Given the description of an element on the screen output the (x, y) to click on. 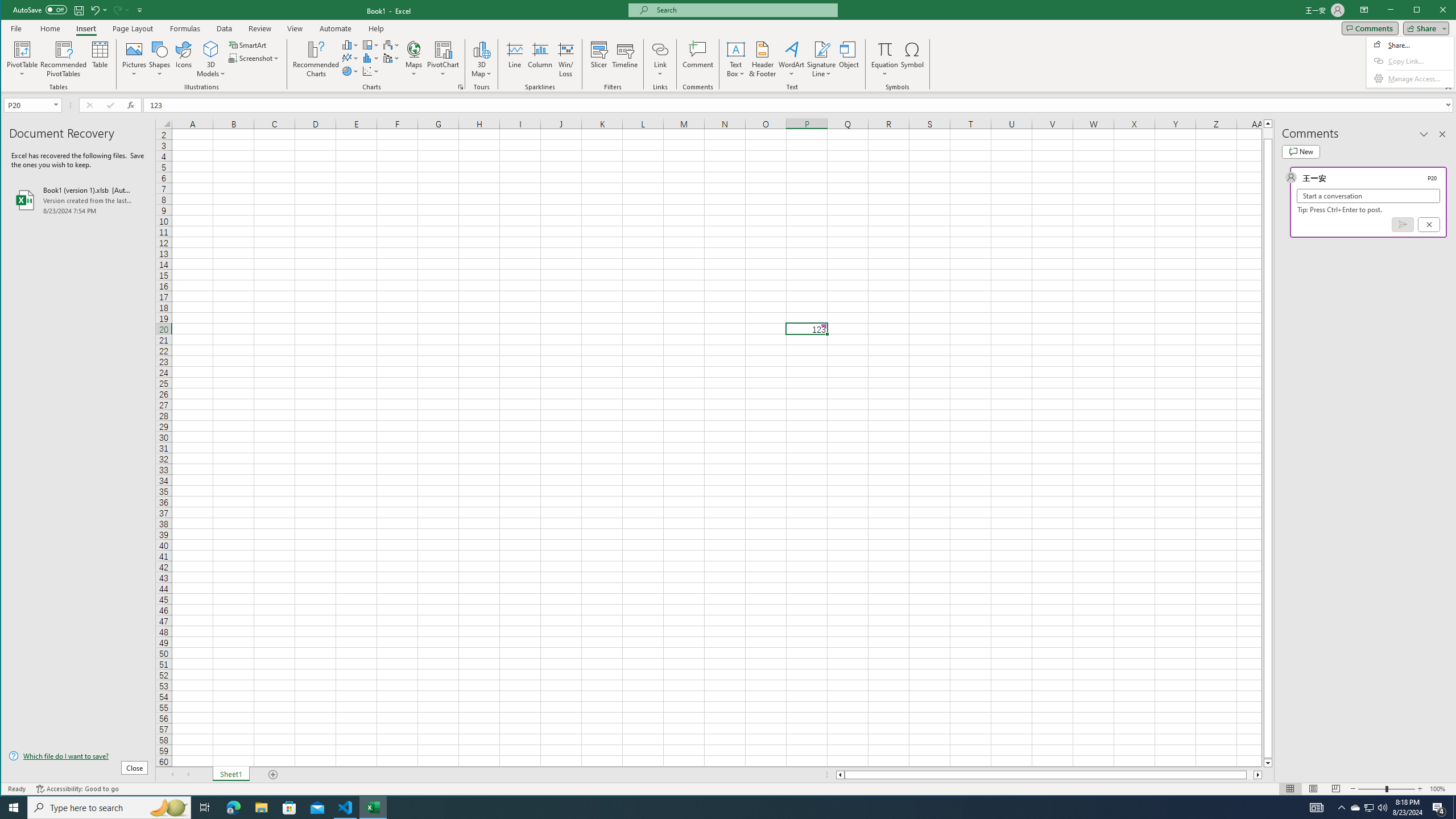
Start a conversation (1368, 195)
Comment (697, 59)
Action Center, 4 new notifications (1439, 807)
Running applications (717, 807)
PivotTable (22, 48)
Pictures (134, 59)
Column (540, 59)
Maximize (1432, 11)
Insert Column or Bar Chart (350, 44)
3D Map (481, 48)
Link (659, 59)
